Given the description of an element on the screen output the (x, y) to click on. 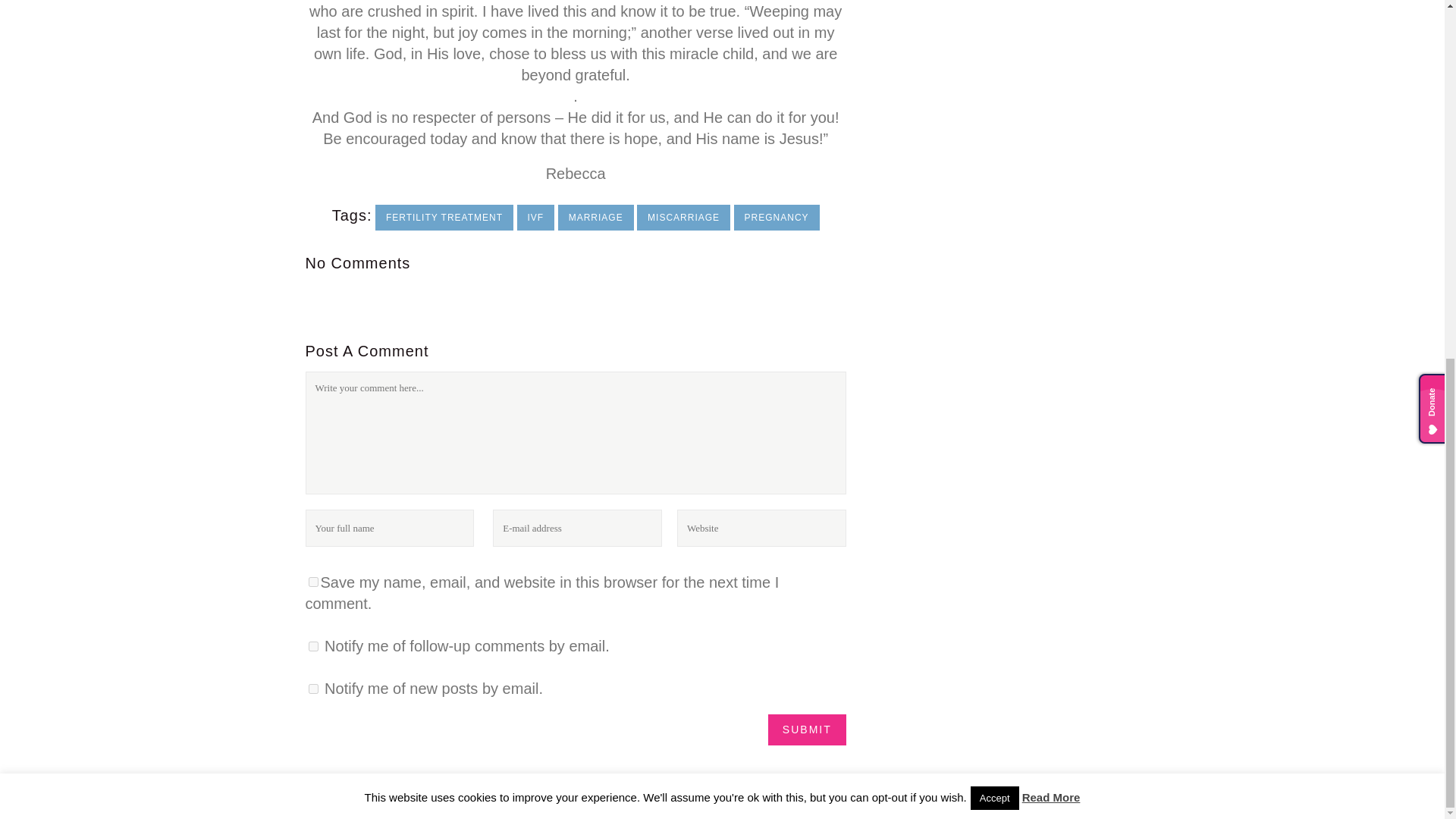
subscribe (312, 645)
yes (312, 582)
subscribe (312, 687)
Submit (806, 728)
